Given the description of an element on the screen output the (x, y) to click on. 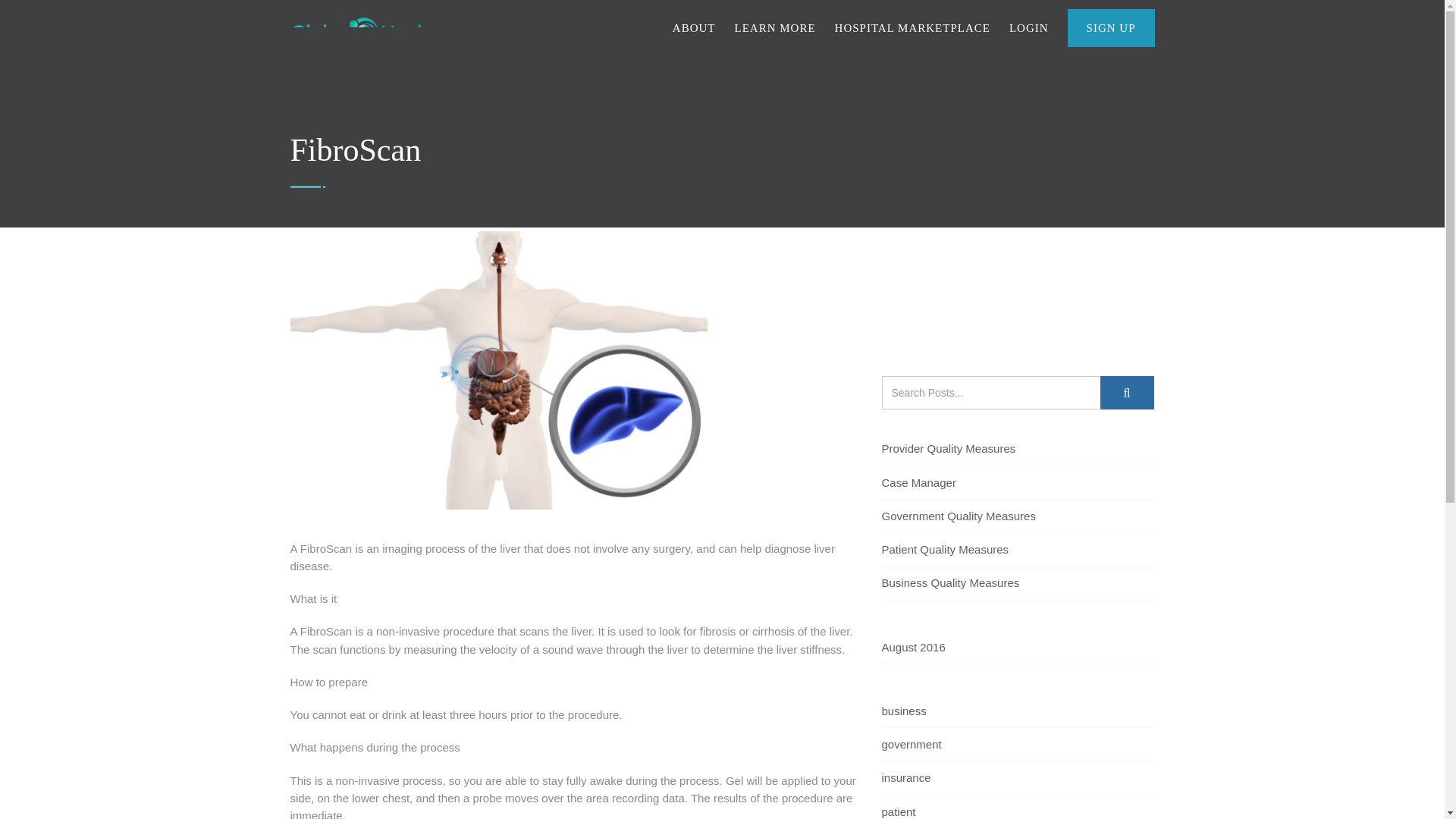
LOGIN (1028, 27)
Provider Quality Measures (947, 448)
patient (897, 810)
August 2016 (912, 647)
government (910, 743)
Business Quality Measures (949, 582)
Government Quality Measures (957, 515)
LEARN MORE (774, 27)
SIGN UP (1110, 27)
business (903, 710)
